Given the description of an element on the screen output the (x, y) to click on. 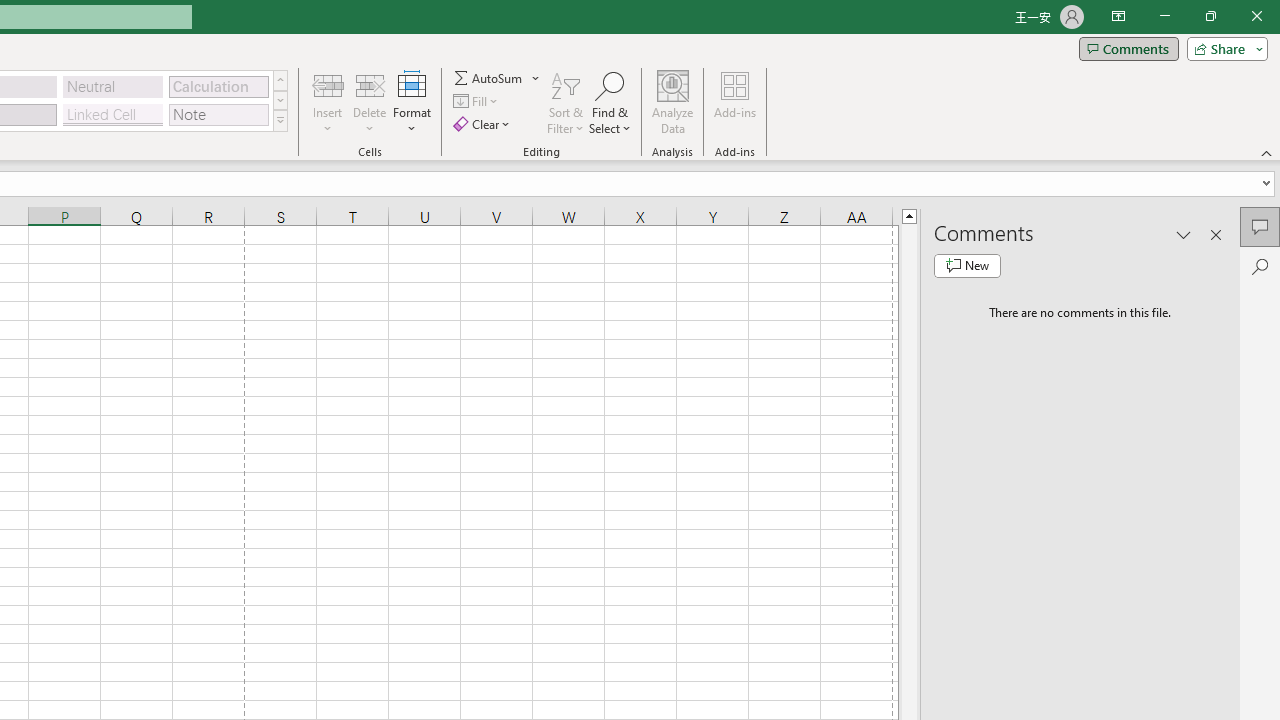
New comment (967, 265)
